Given the description of an element on the screen output the (x, y) to click on. 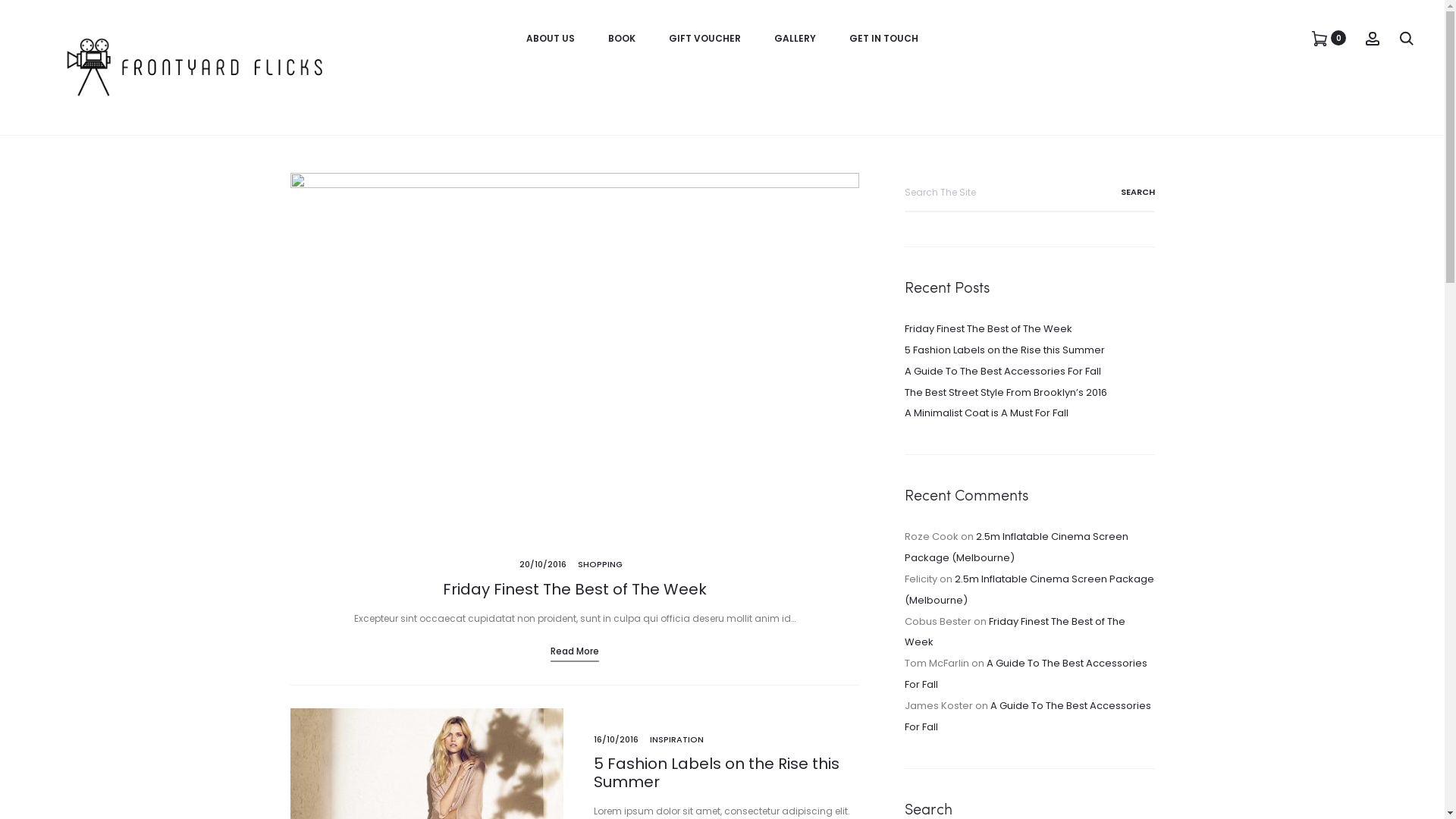
Friday Finest The Best of The Week Element type: text (1013, 631)
SHOPPING Element type: text (599, 564)
A Guide To The Best Accessories For Fall Element type: text (1024, 673)
BOOK Element type: text (621, 38)
A Guide To The Best Accessories For Fall Element type: text (1026, 716)
5 Fashion Labels on the Rise this Summer Element type: text (1003, 349)
INSPIRATION Element type: text (675, 739)
Friday Finest The Best of The Week Element type: text (987, 328)
A Minimalist Coat is A Must For Fall Element type: text (985, 412)
GALLERY Element type: text (794, 38)
16/10/2016 Element type: text (615, 739)
2.5m Inflatable Cinema Screen Package (Melbourne) Element type: text (1028, 589)
2.5m Inflatable Cinema Screen Package (Melbourne) Element type: text (1015, 546)
Search Element type: text (1118, 191)
ABOUT US Element type: text (550, 38)
20/10/2016 Element type: text (541, 564)
0 Element type: text (1319, 37)
GET IN TOUCH Element type: text (883, 38)
A Guide To The Best Accessories For Fall Element type: text (1001, 371)
Read More Element type: text (574, 651)
5 Fashion Labels on the Rise this Summer Element type: text (715, 772)
GIFT VOUCHER Element type: text (704, 38)
Friday Finest The Best of The Week Element type: text (574, 588)
